Given the description of an element on the screen output the (x, y) to click on. 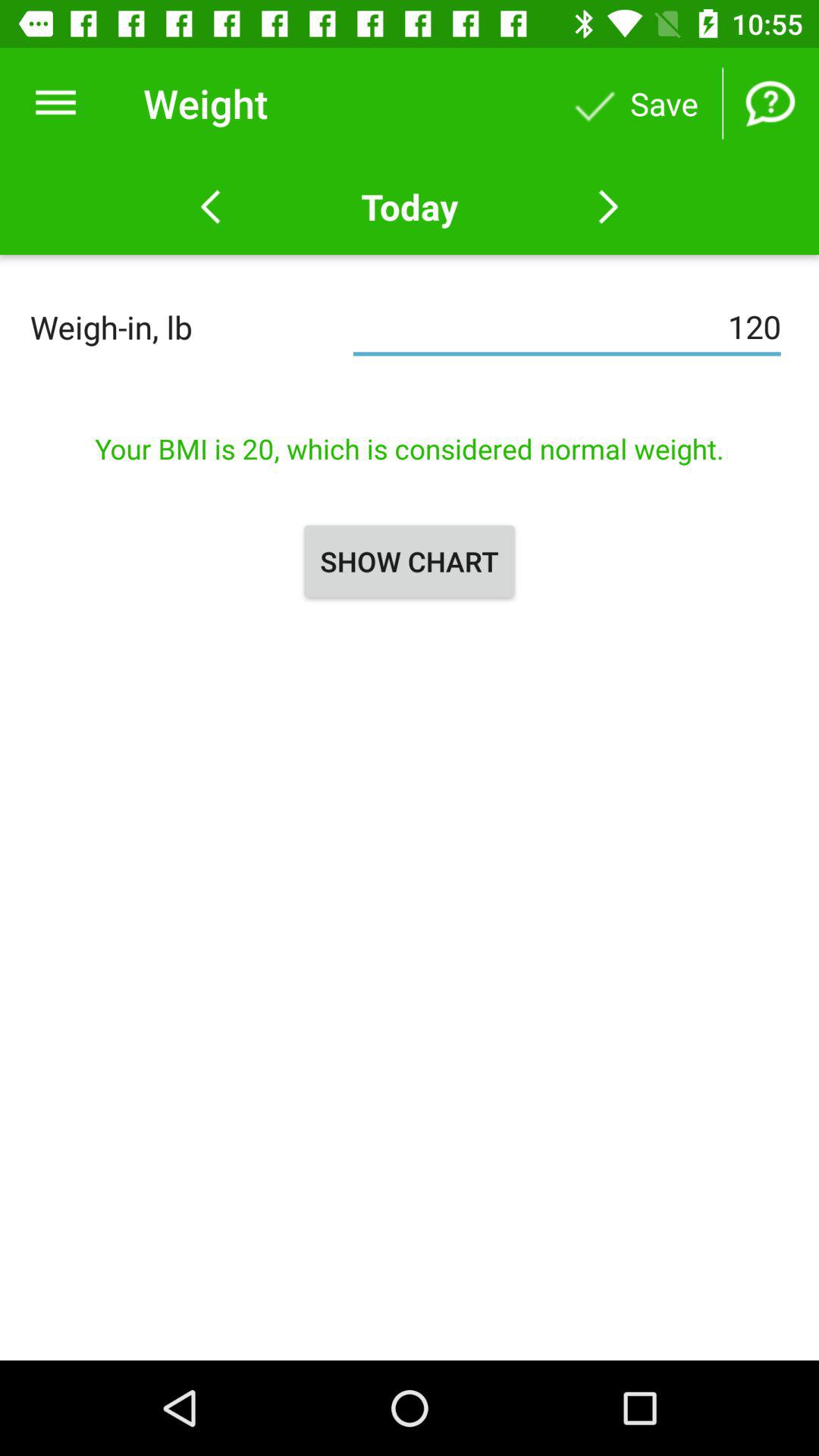
go to next day (608, 206)
